Given the description of an element on the screen output the (x, y) to click on. 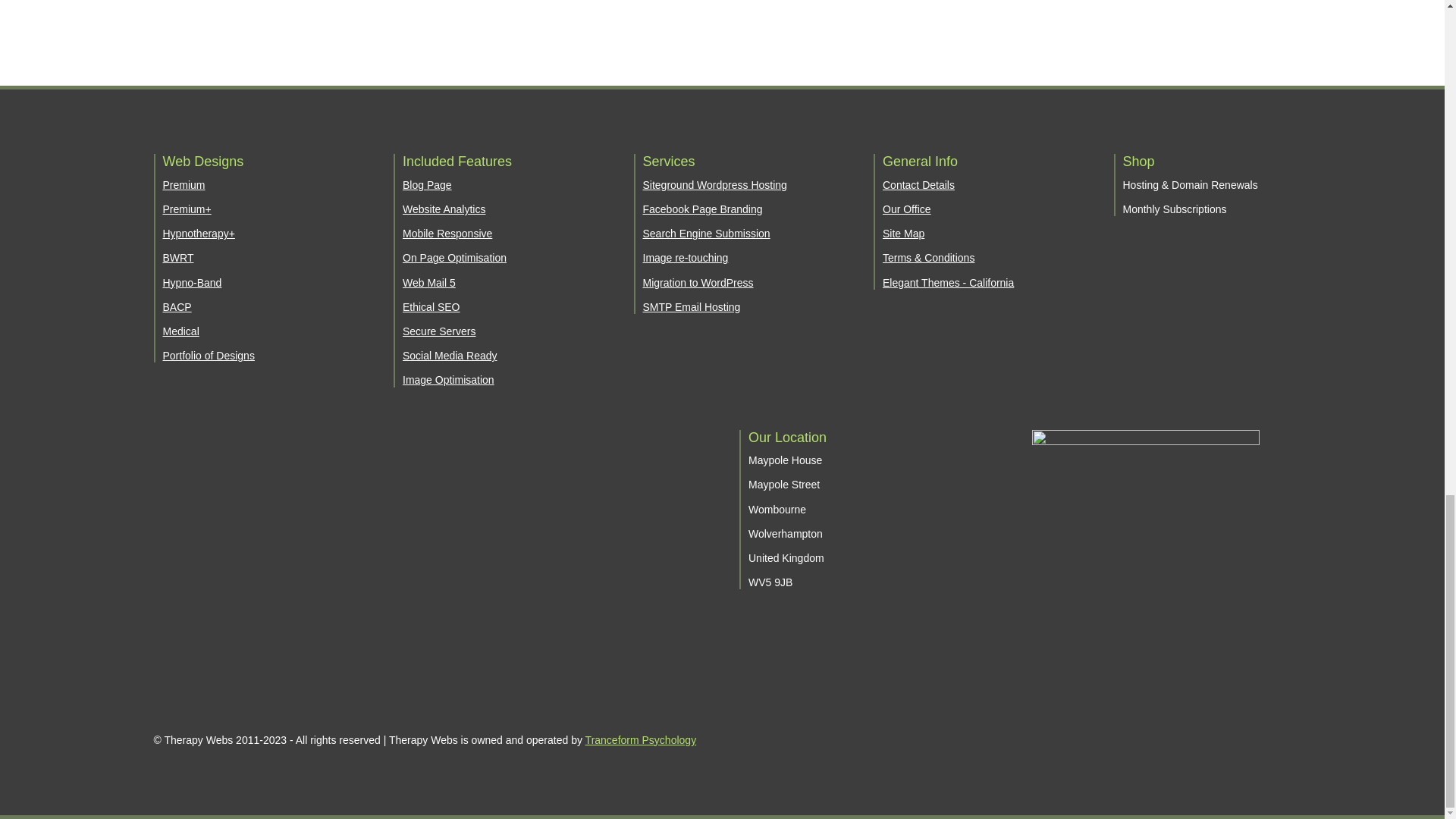
Divi. The Ultimate WordPress Theme And Visual Page Builder (1028, 10)
Premium (183, 184)
Therapy-webs-logo-300-90 (1145, 463)
Visit our Psychology site (641, 739)
